Given the description of an element on the screen output the (x, y) to click on. 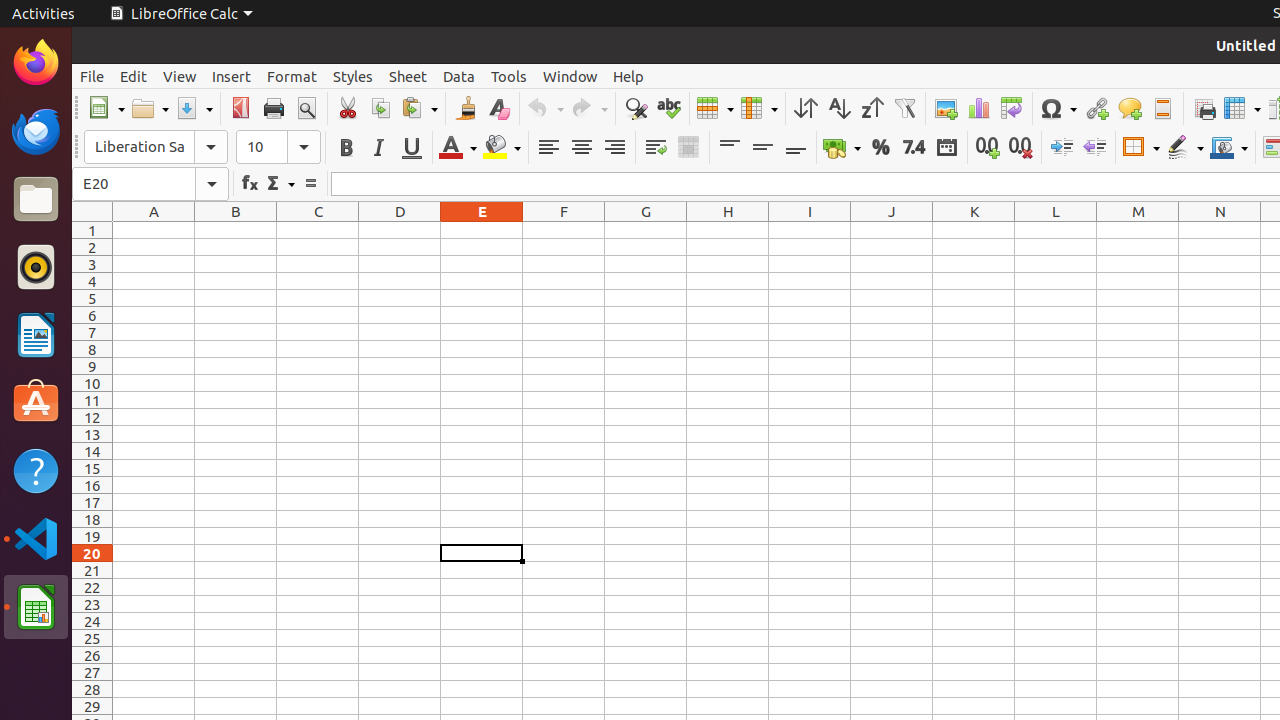
AutoFilter Element type: push-button (904, 108)
Paste Element type: push-button (419, 108)
Border Style Element type: push-button (1185, 147)
New Element type: push-button (106, 108)
Currency Element type: push-button (842, 147)
